Given the description of an element on the screen output the (x, y) to click on. 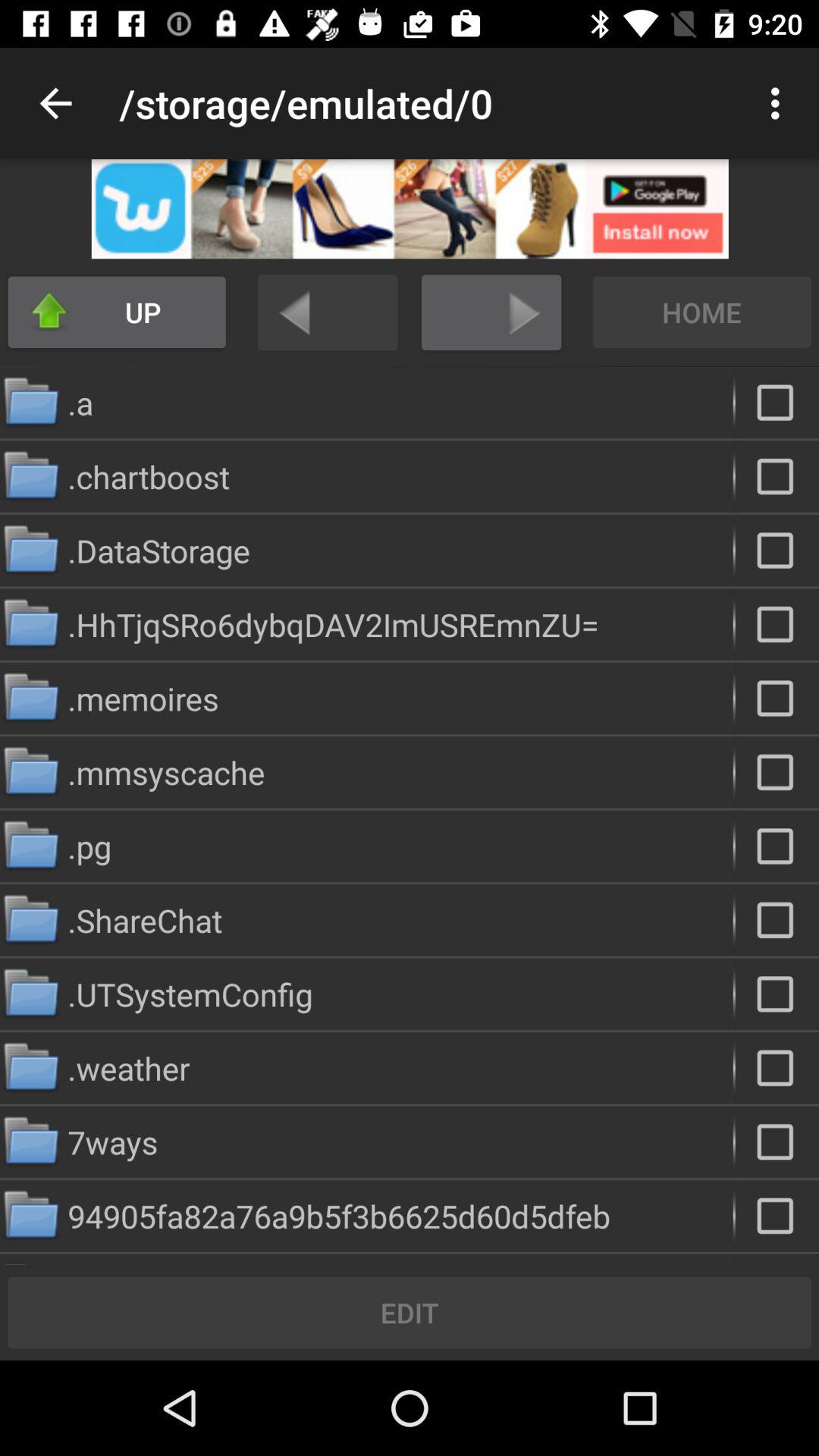
click advertisement (409, 208)
